Given the description of an element on the screen output the (x, y) to click on. 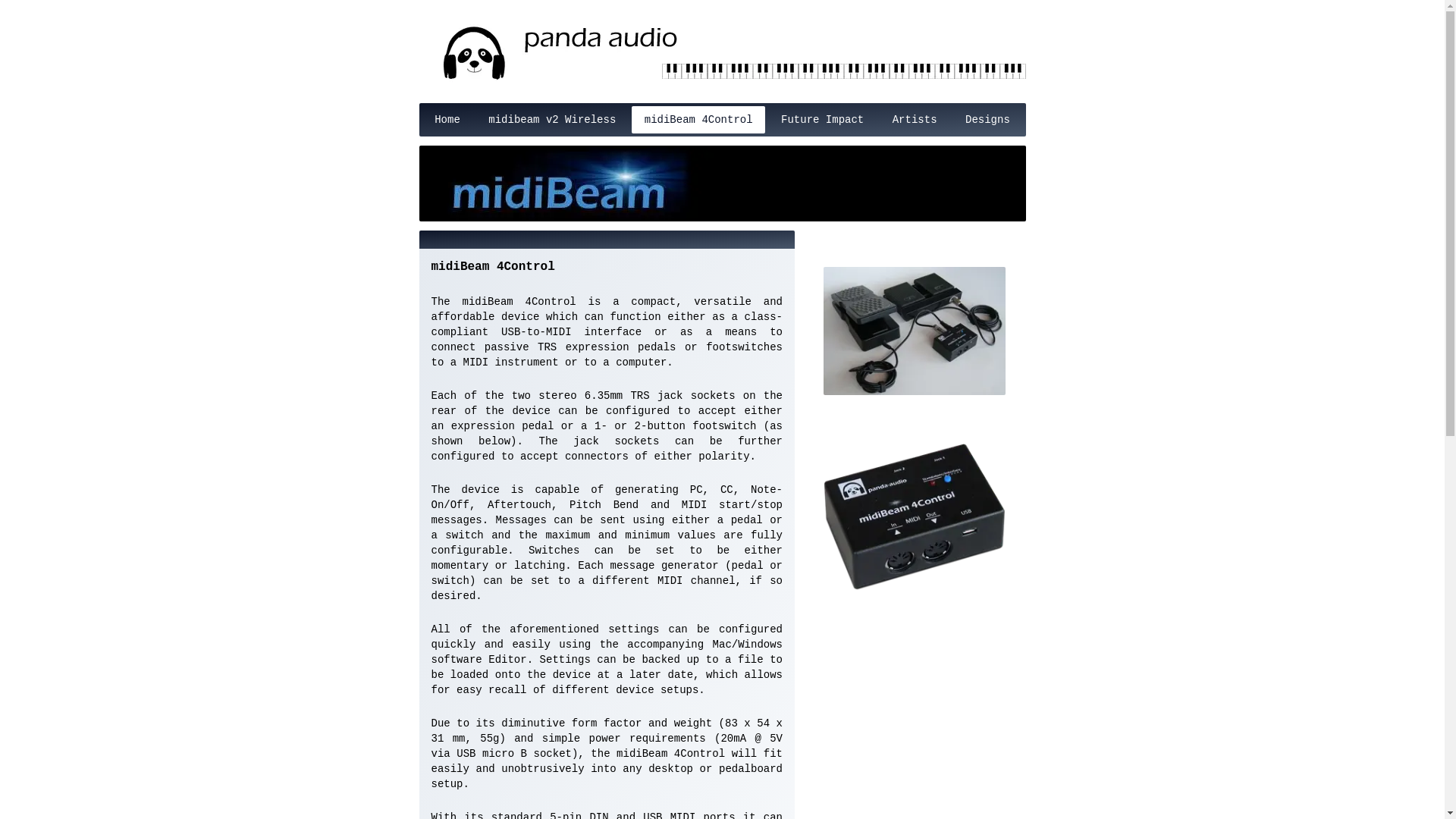
midibeam v2 Wireless (552, 119)
Home (446, 119)
midiBeam 4Control (698, 119)
Artists (914, 119)
Future Impact (822, 119)
Designs (987, 119)
